Given the description of an element on the screen output the (x, y) to click on. 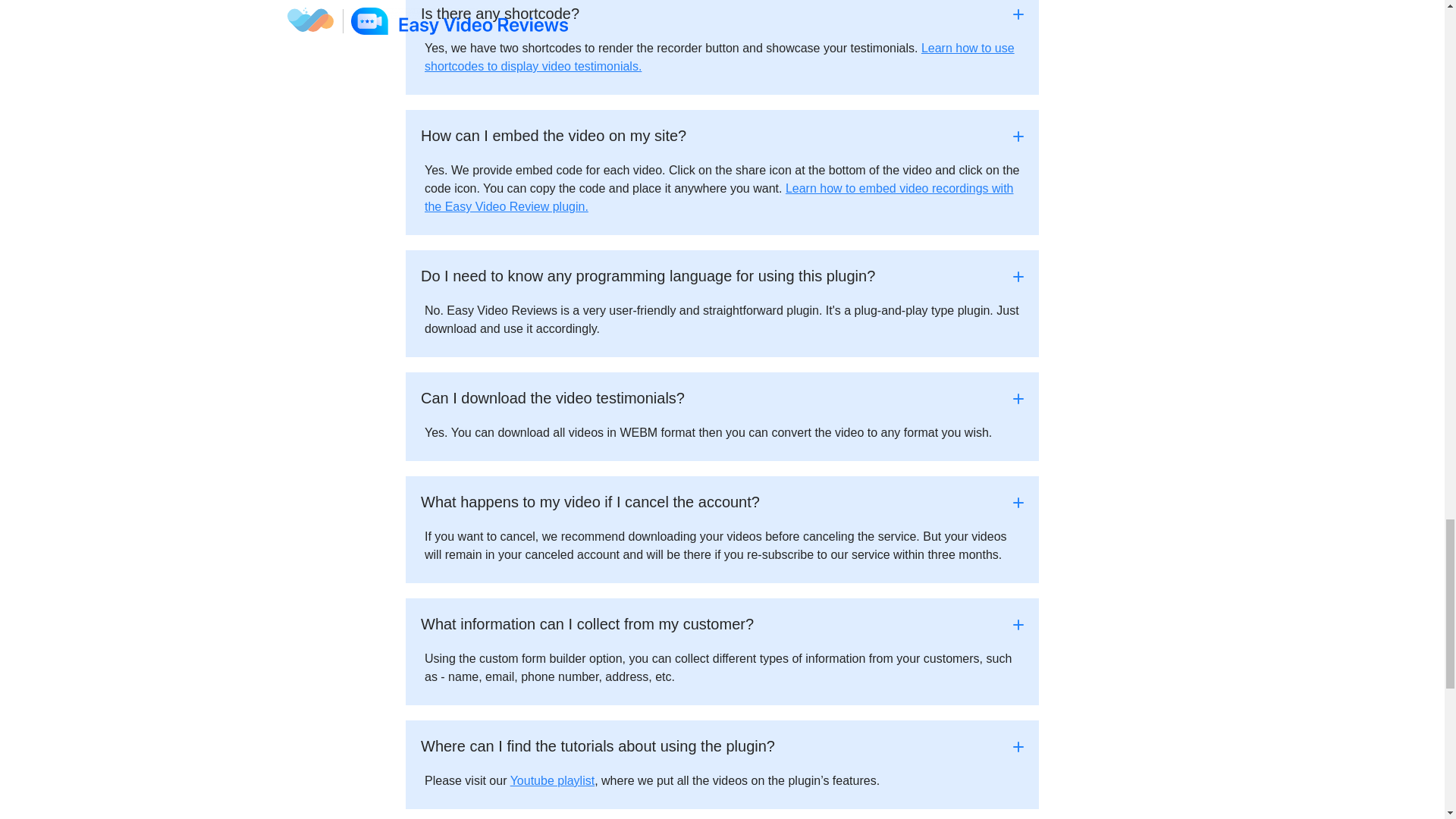
Youtube playlist (553, 780)
Learn how to use shortcodes to display video testimonials. (719, 56)
